Given the description of an element on the screen output the (x, y) to click on. 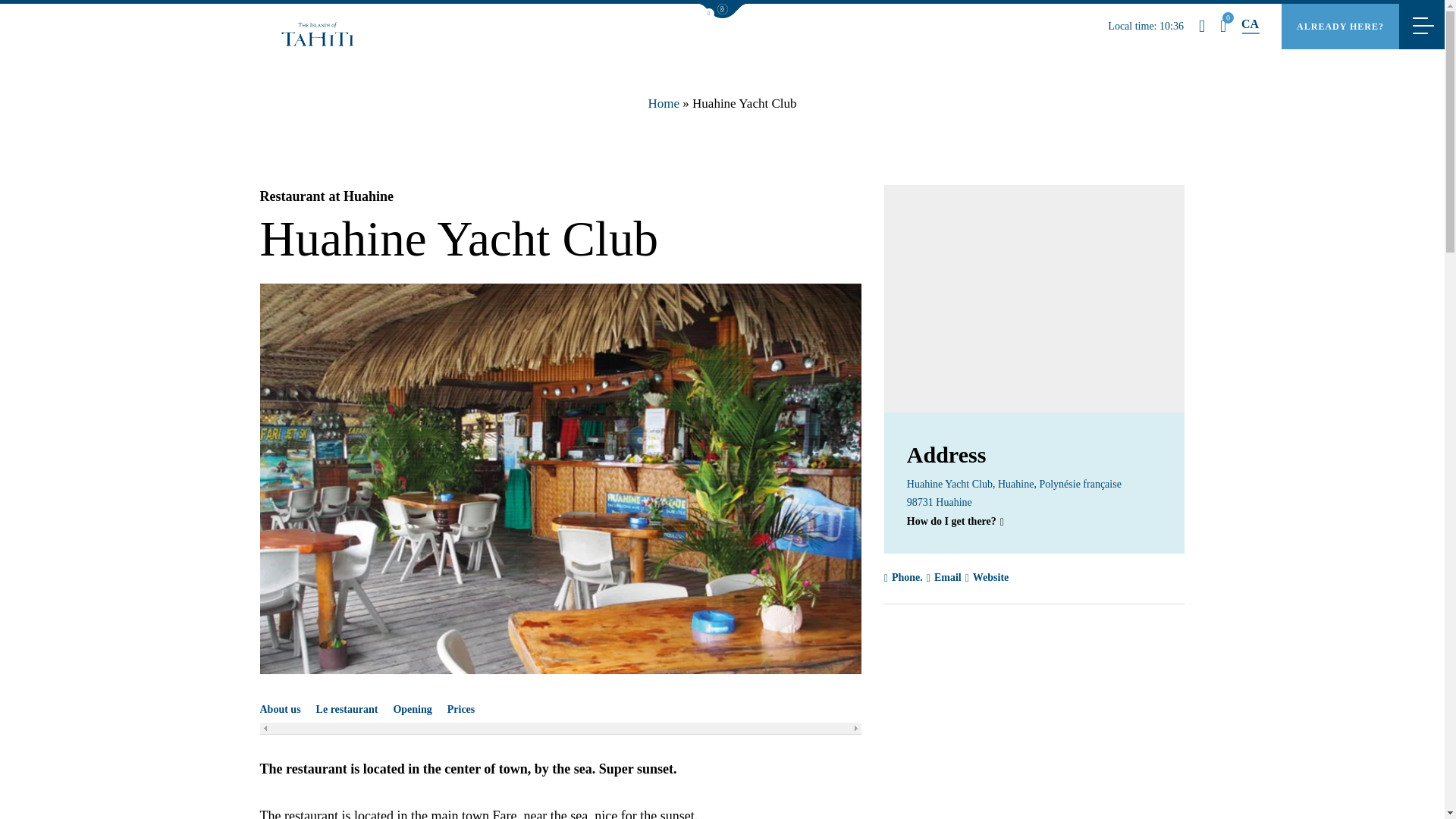
en-CA (1250, 23)
Tahiti Tourisme (316, 33)
